Given the description of an element on the screen output the (x, y) to click on. 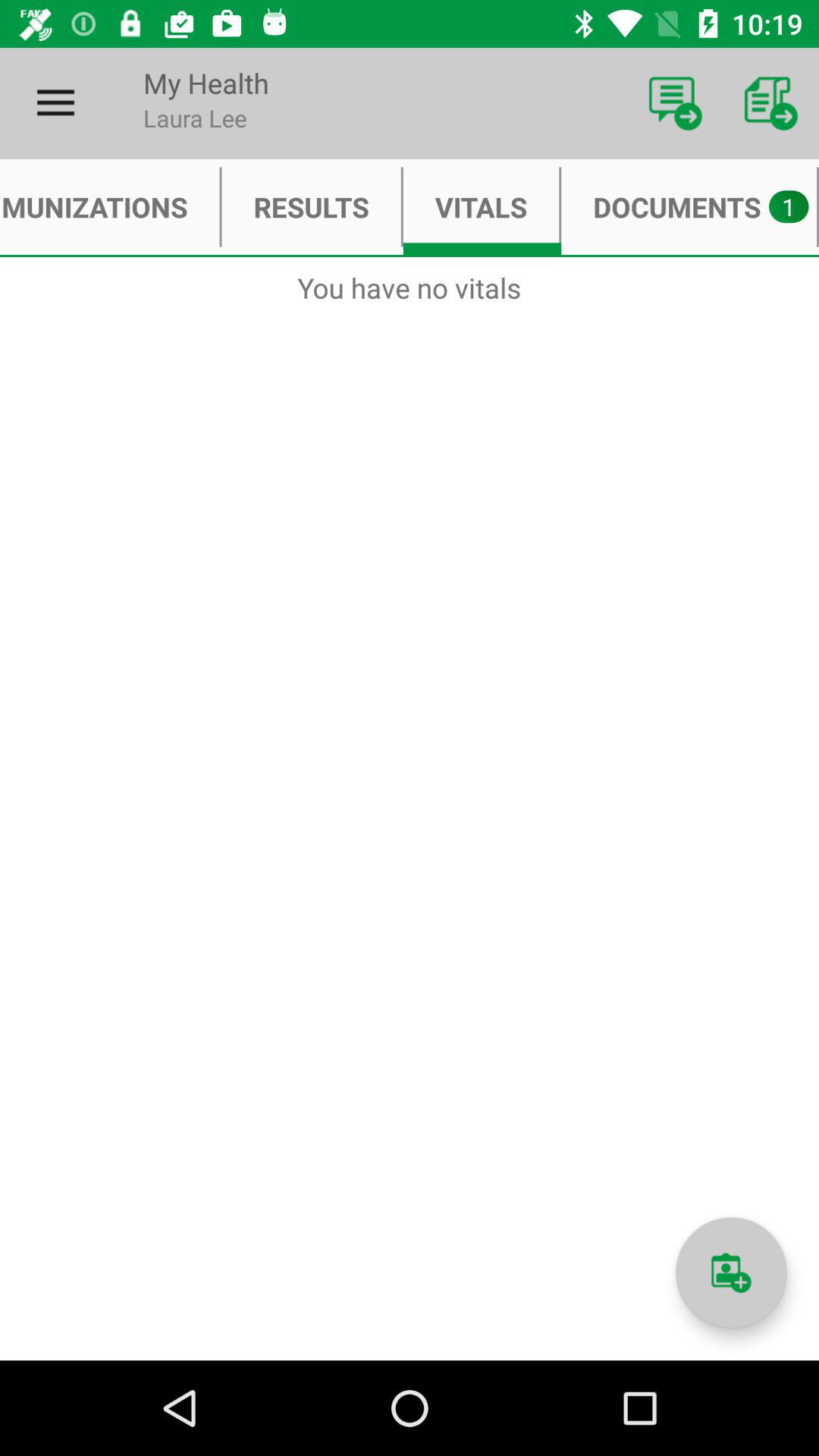
add document (731, 1272)
